Given the description of an element on the screen output the (x, y) to click on. 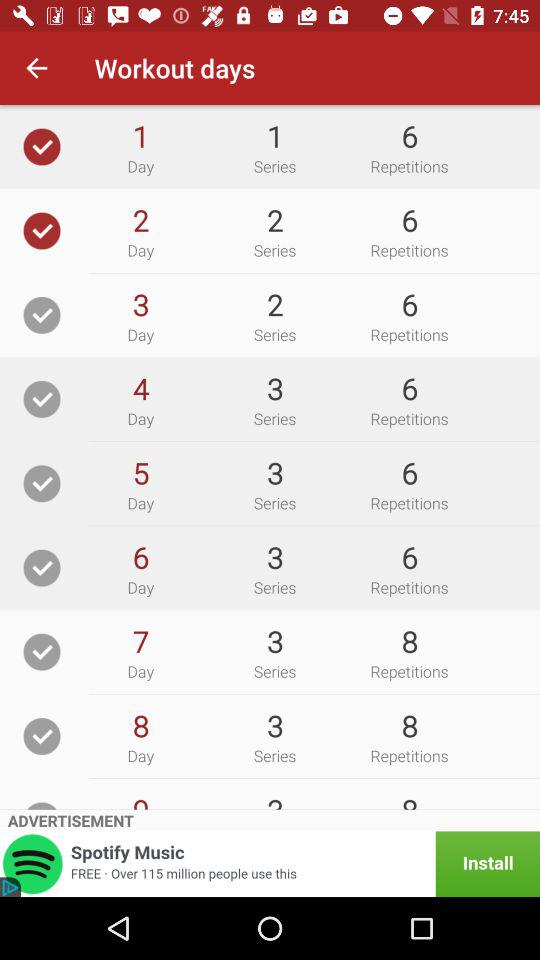
check off days (41, 483)
